Given the description of an element on the screen output the (x, y) to click on. 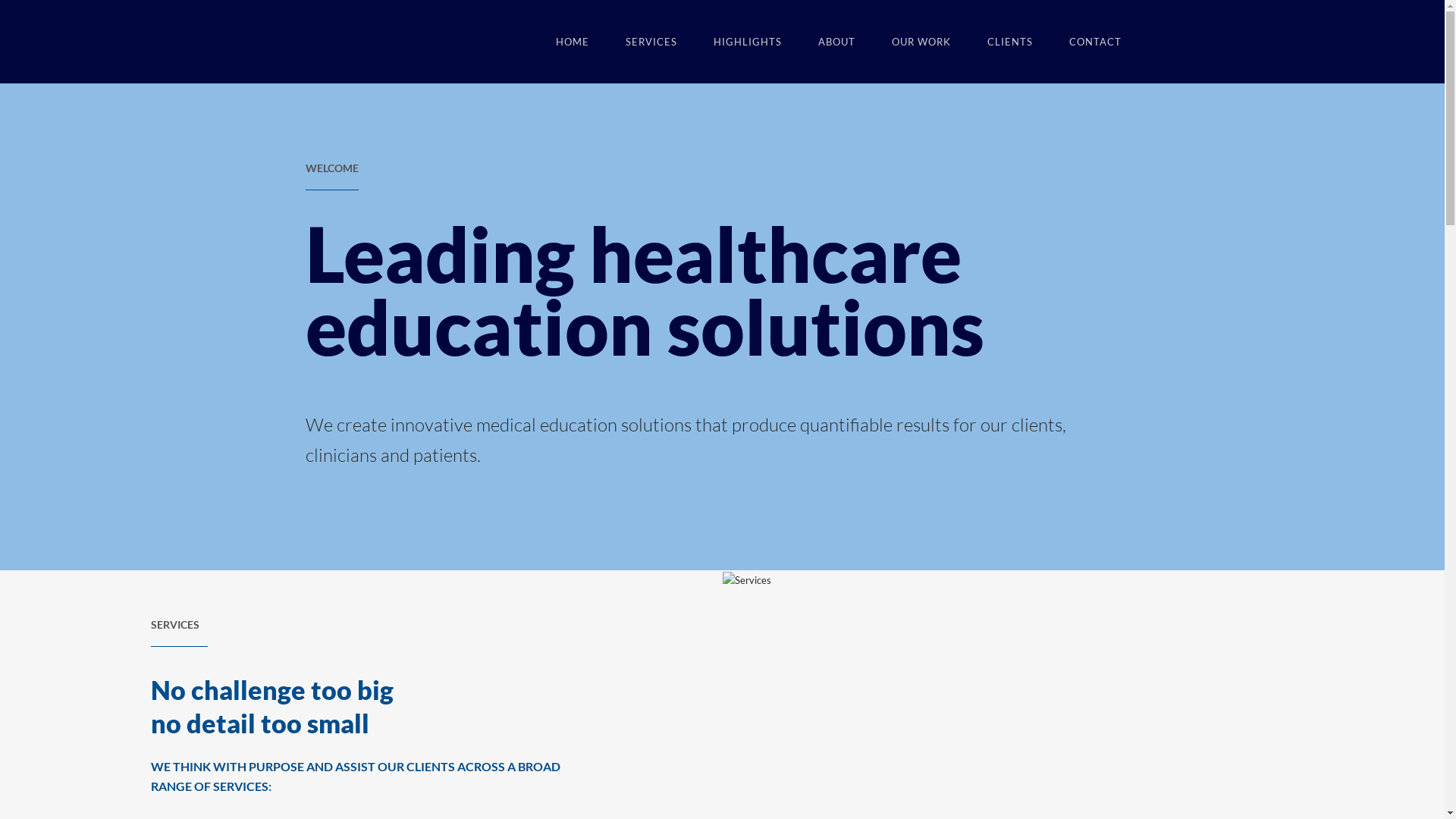
OUR WORK Element type: text (921, 41)
HIGHLIGHTS Element type: text (746, 41)
SERVICES Element type: text (650, 41)
ABOUT Element type: text (835, 41)
CONTACT Element type: text (1095, 41)
CLIENTS Element type: text (1010, 41)
HOME Element type: text (571, 41)
